Given the description of an element on the screen output the (x, y) to click on. 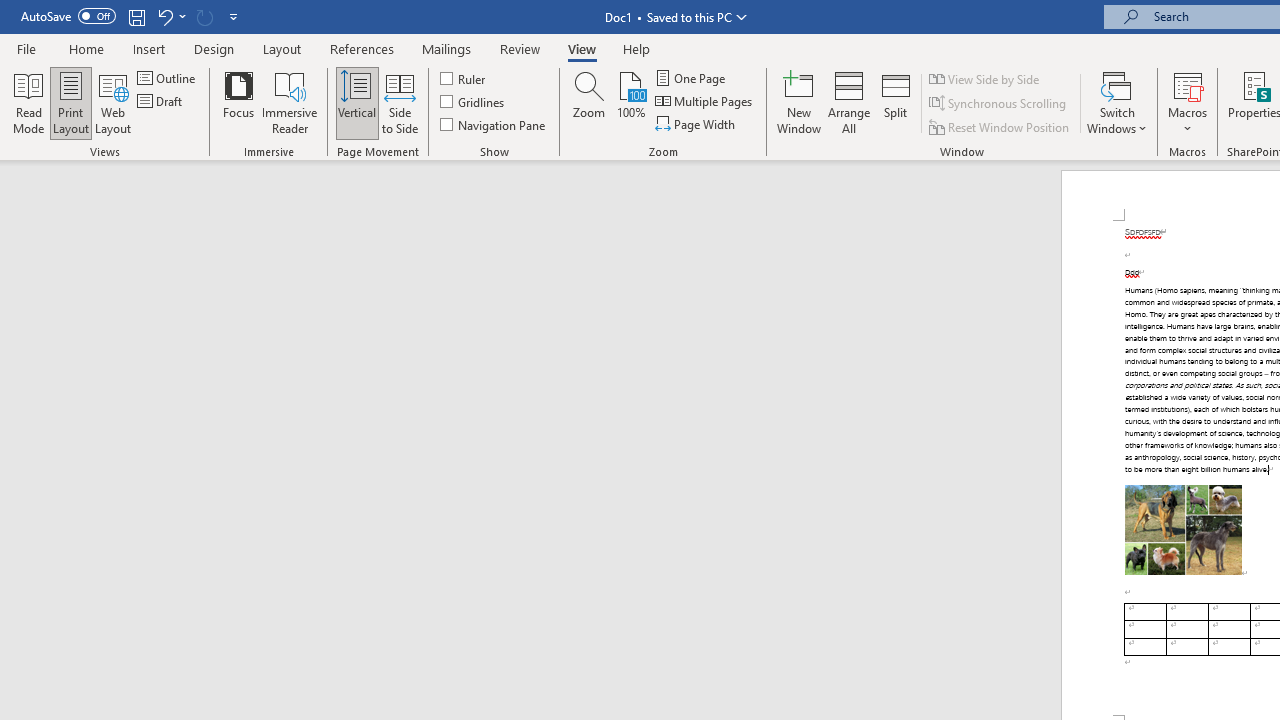
View Macros (1187, 84)
Undo Apply Quick Style Set (170, 15)
Vertical (356, 102)
Ruler (463, 78)
Navigation Pane (493, 124)
Immersive Reader (289, 102)
Can't Repeat (204, 15)
Multiple Pages (705, 101)
